Given the description of an element on the screen output the (x, y) to click on. 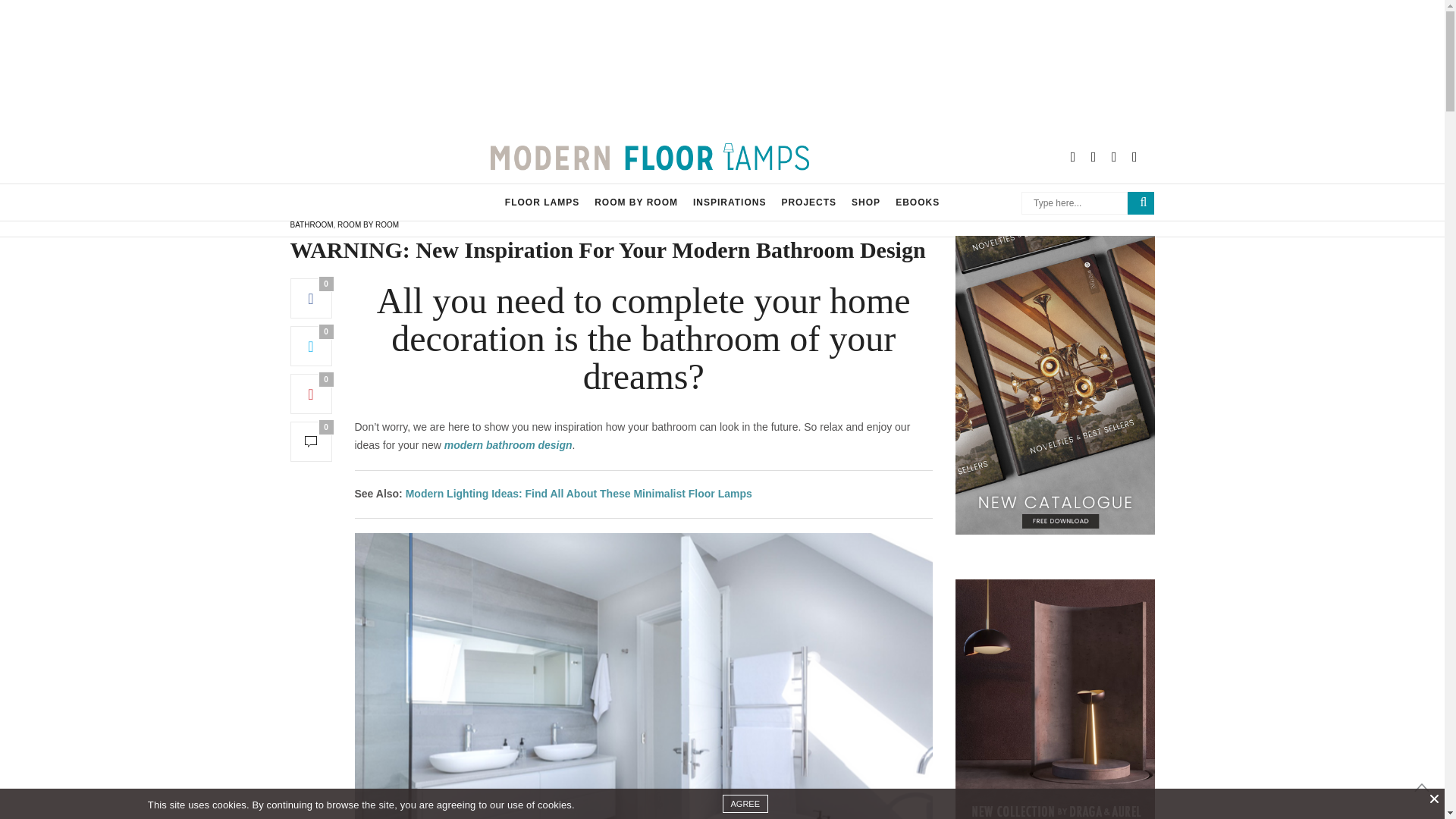
INSPIRATIONS (729, 201)
Modern Floor Lamps (649, 156)
SHOP (865, 201)
EBOOKS (917, 201)
PROJECTS (807, 201)
FLOOR LAMPS (542, 201)
ROOM BY ROOM (636, 201)
